Given the description of an element on the screen output the (x, y) to click on. 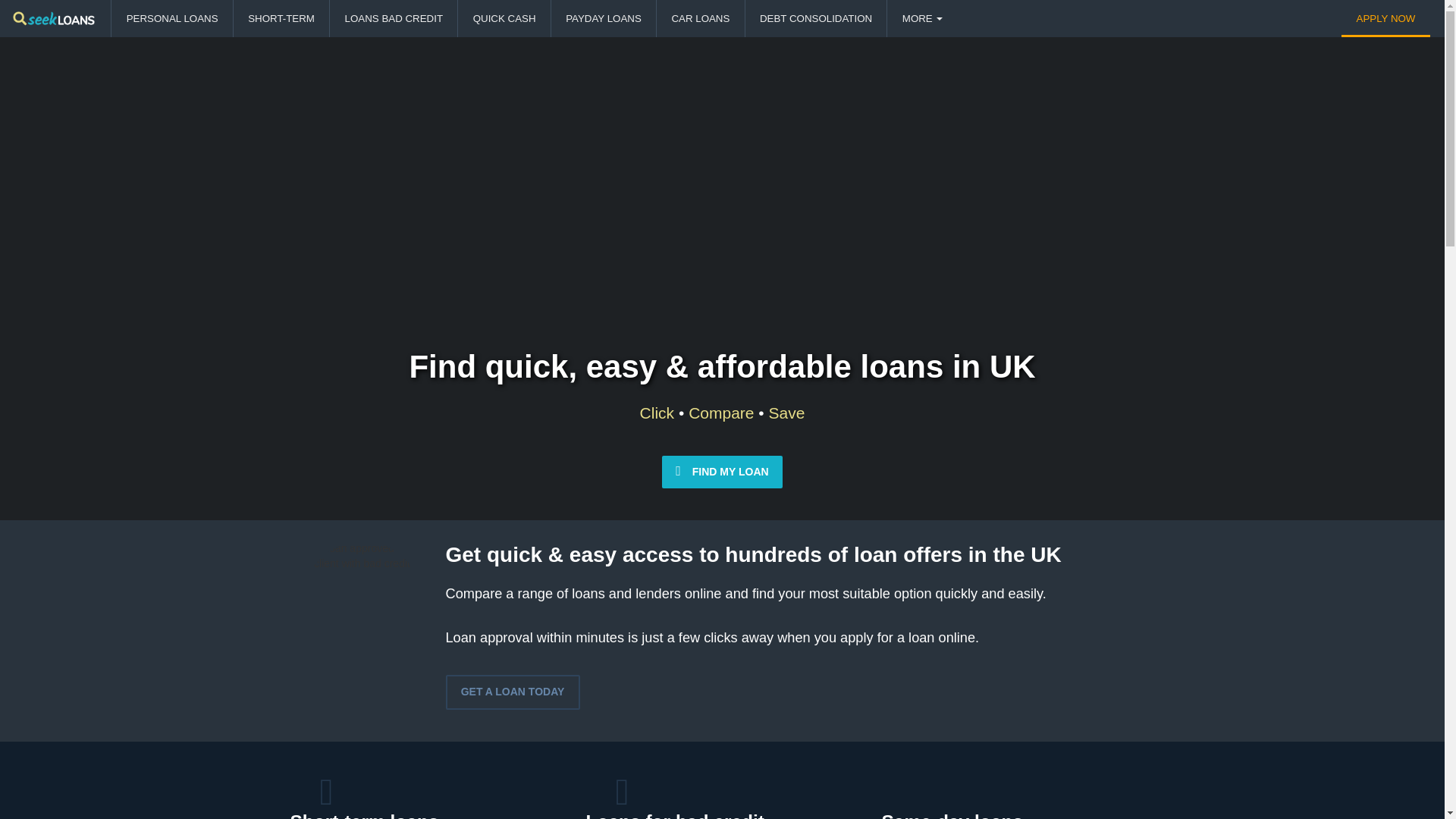
PERSONAL LOANS (171, 18)
Loans for bad credit (674, 815)
QUICK CASH (504, 18)
PAYDAY LOANS (603, 18)
MORE (921, 18)
FIND MY LOAN (722, 471)
Short-term loans (363, 815)
LOANS BAD CREDIT (393, 18)
Short-term loans in UK (363, 815)
CAR LOANS (700, 18)
